Given the description of an element on the screen output the (x, y) to click on. 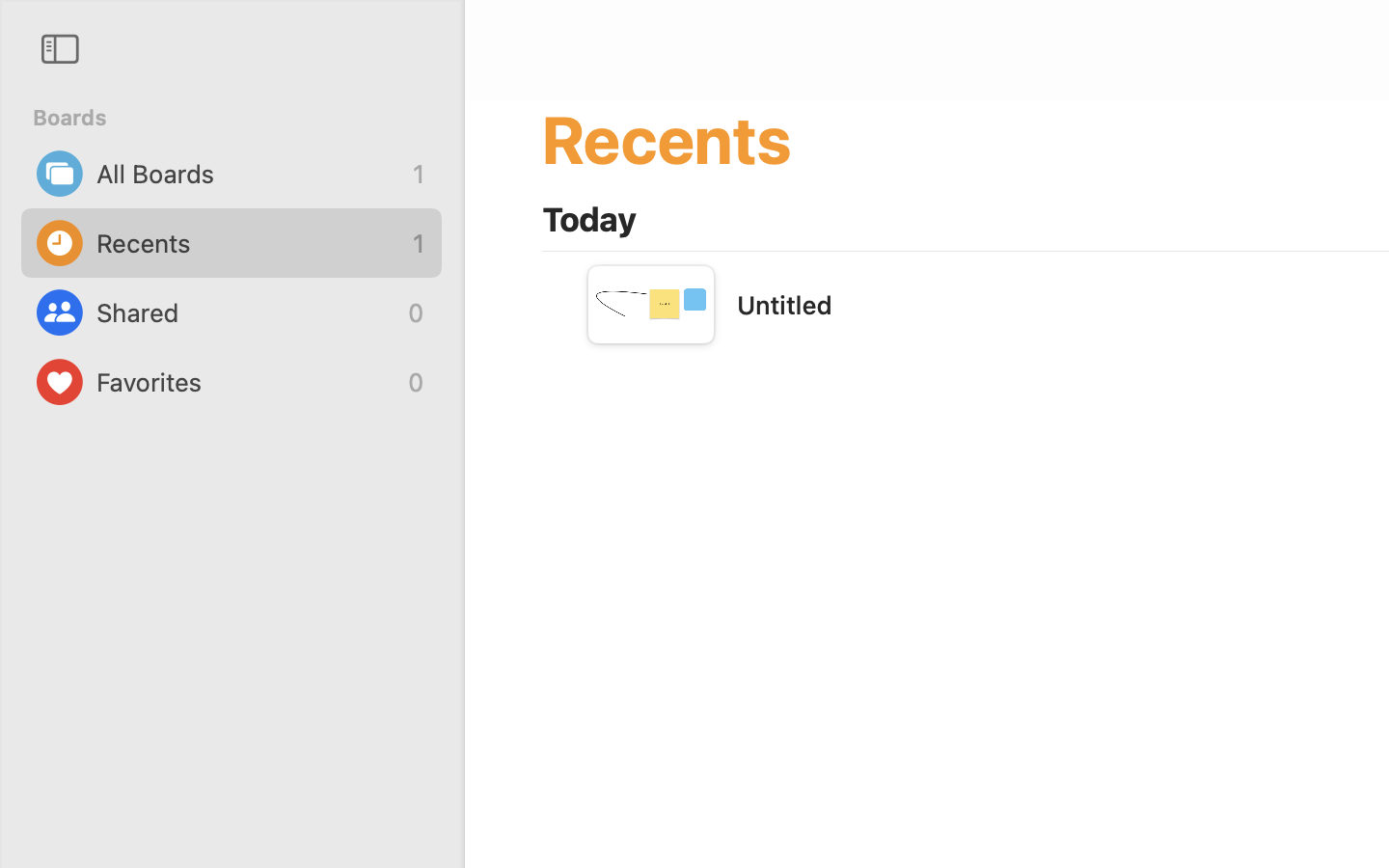
All Boards Element type: AXStaticText (249, 173)
Favorites Element type: AXStaticText (246, 381)
Recents Element type: AXStaticText (249, 242)
Shared Element type: AXStaticText (246, 312)
